Given the description of an element on the screen output the (x, y) to click on. 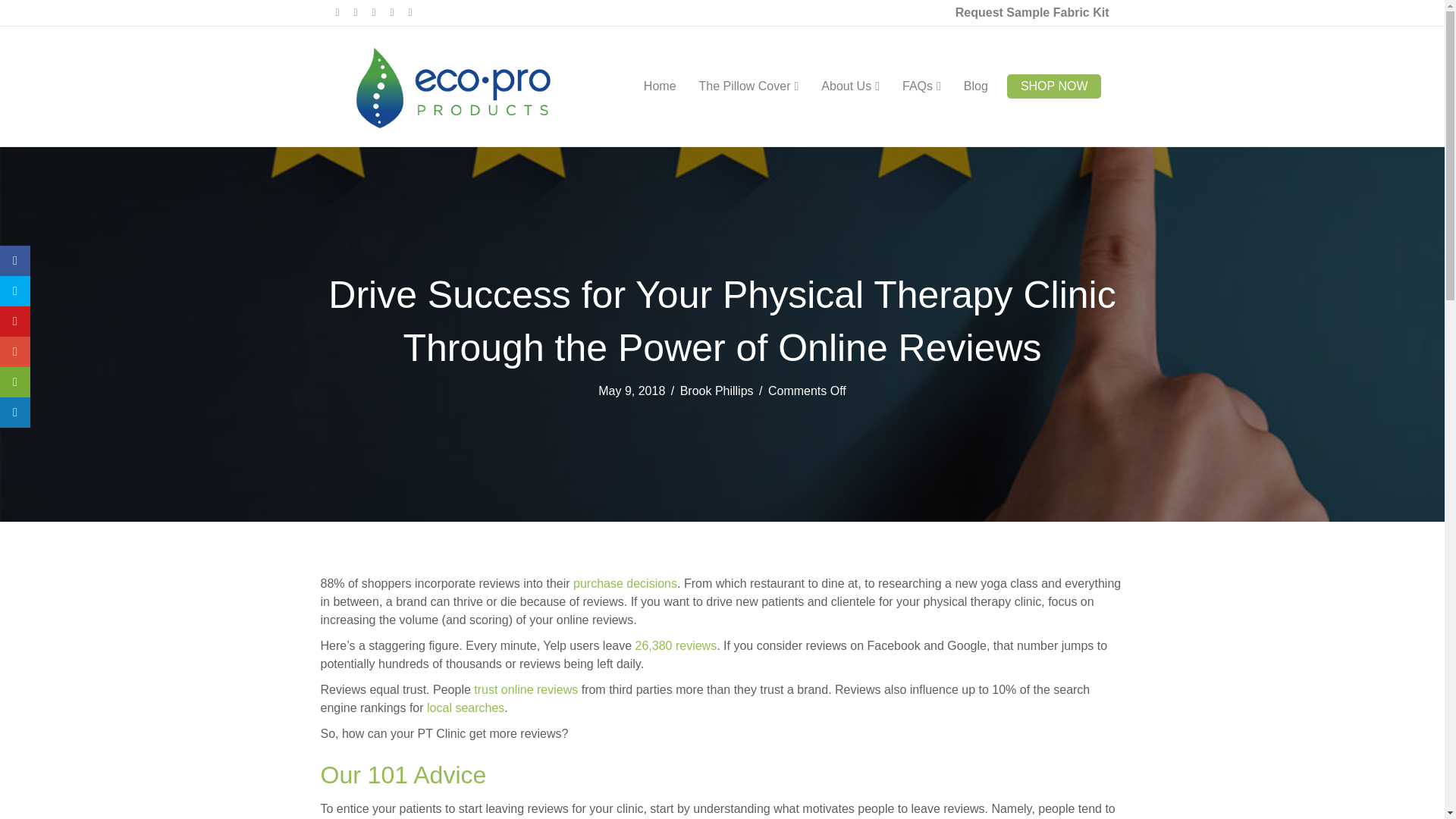
Twitter (362, 11)
FAQs (921, 86)
Linkedin (380, 11)
Request Sample Fabric Kit (1031, 13)
The Pillow Cover (748, 86)
Home (659, 86)
About Us (850, 86)
Blog (975, 86)
Instagram (398, 11)
Facebook (343, 11)
